Given the description of an element on the screen output the (x, y) to click on. 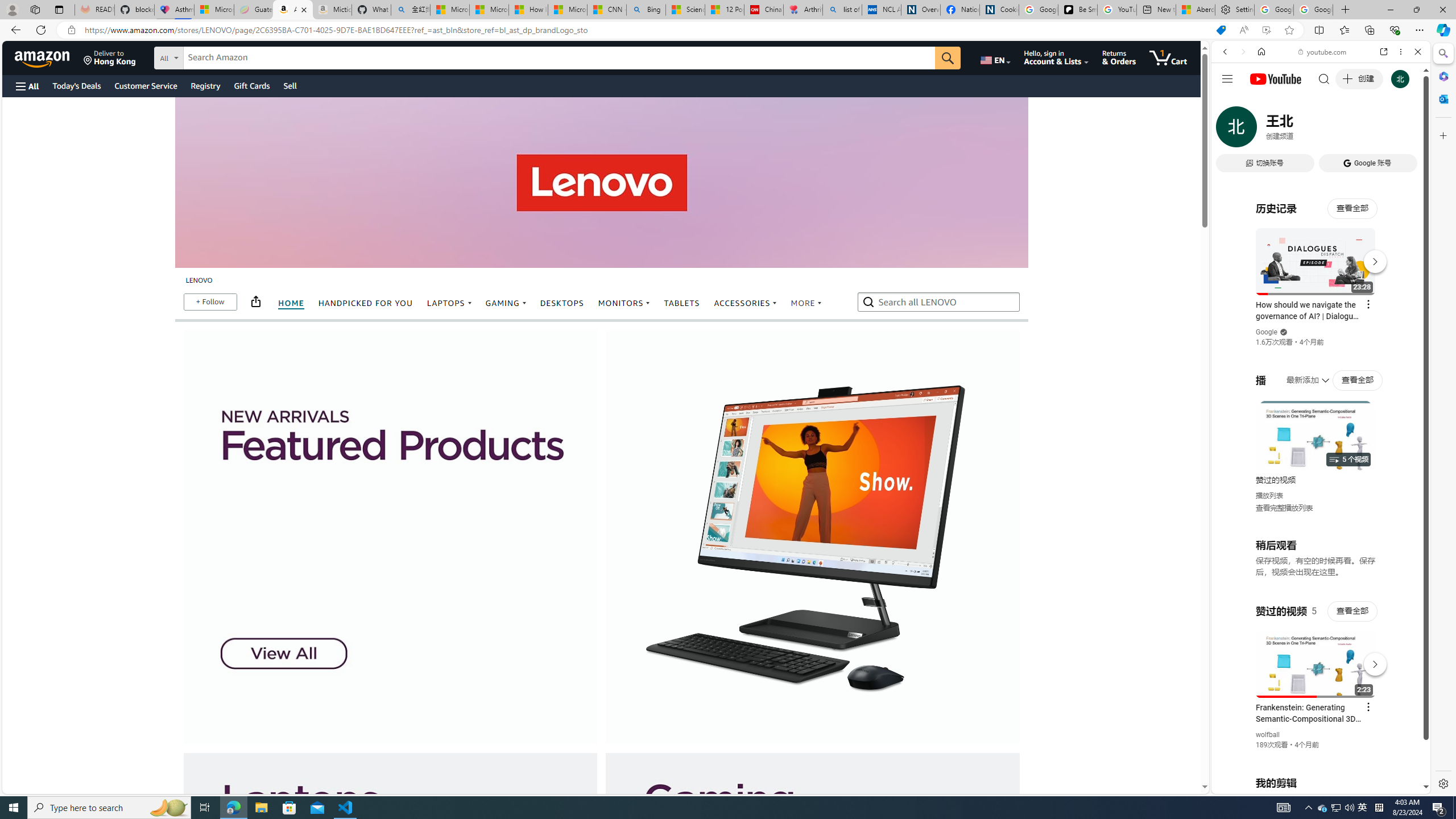
Customer Service (145, 85)
Cookies (999, 9)
